Given the description of an element on the screen output the (x, y) to click on. 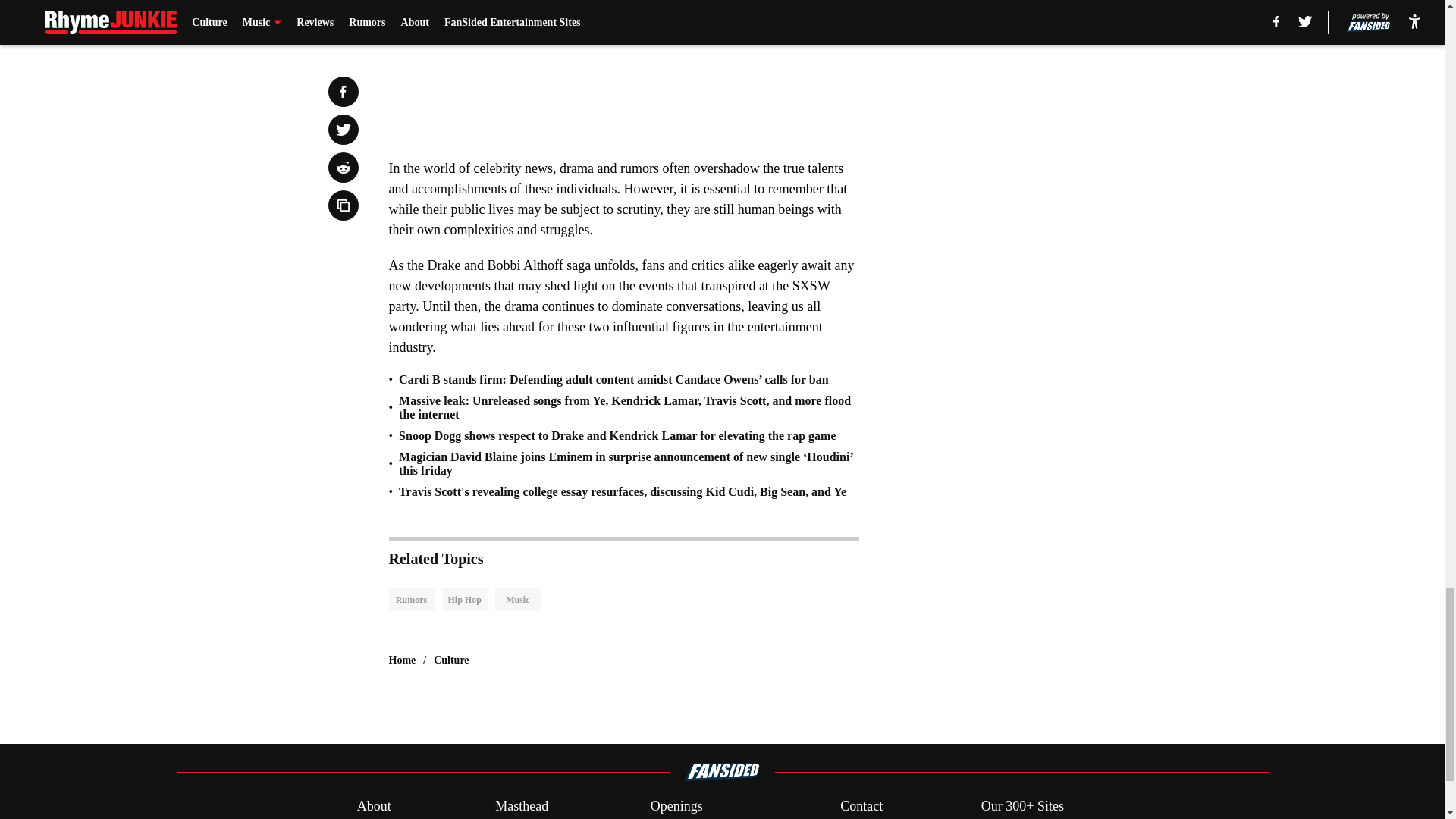
Contact (861, 806)
Culture (450, 660)
About (373, 806)
Hip Hop (463, 599)
Masthead (521, 806)
Rumors (410, 599)
Openings (676, 806)
Music (517, 599)
Home (401, 660)
